Given the description of an element on the screen output the (x, y) to click on. 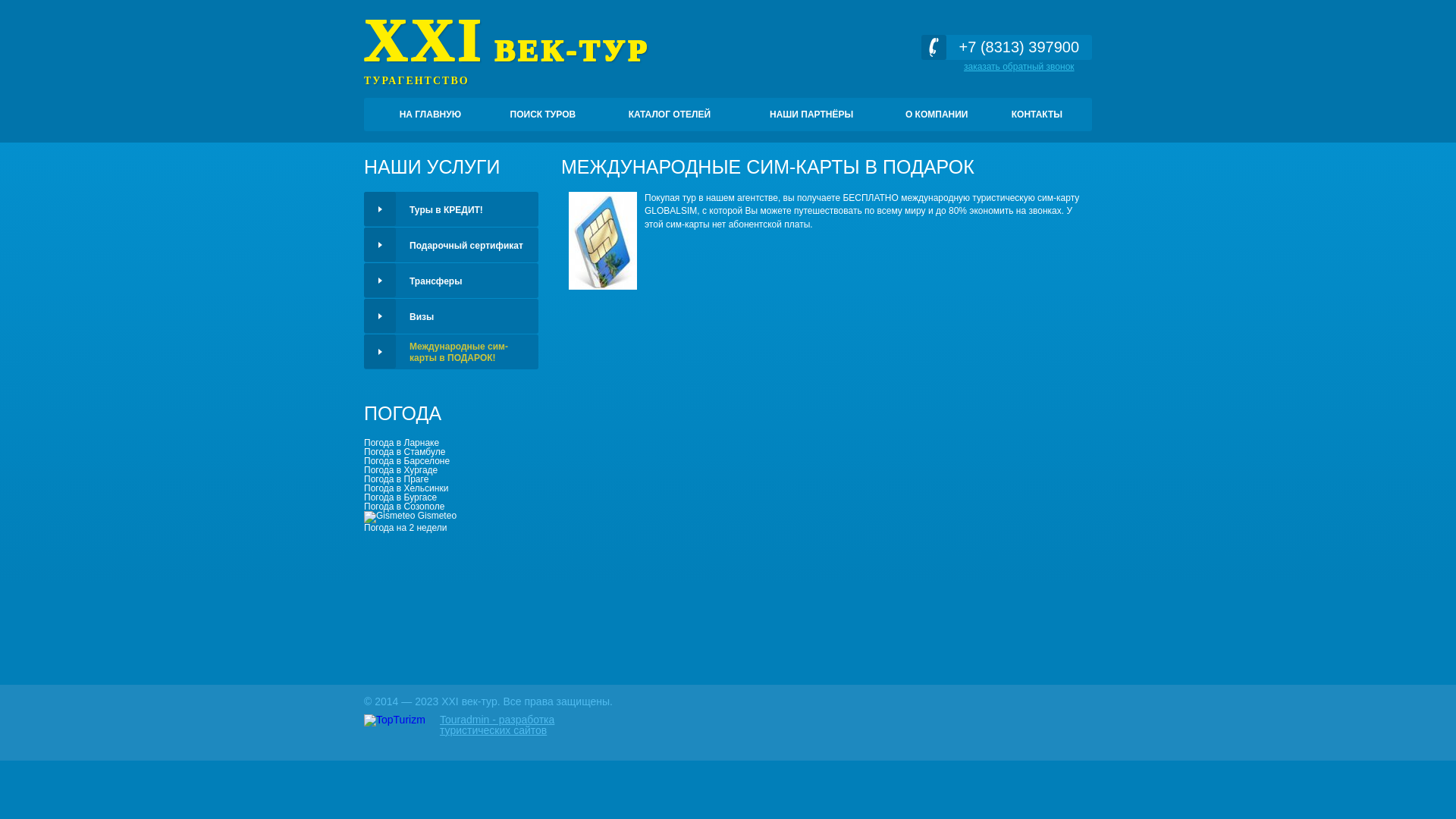
Gismeteo Element type: text (410, 515)
Gismeteo Element type: hover (389, 517)
